Given the description of an element on the screen output the (x, y) to click on. 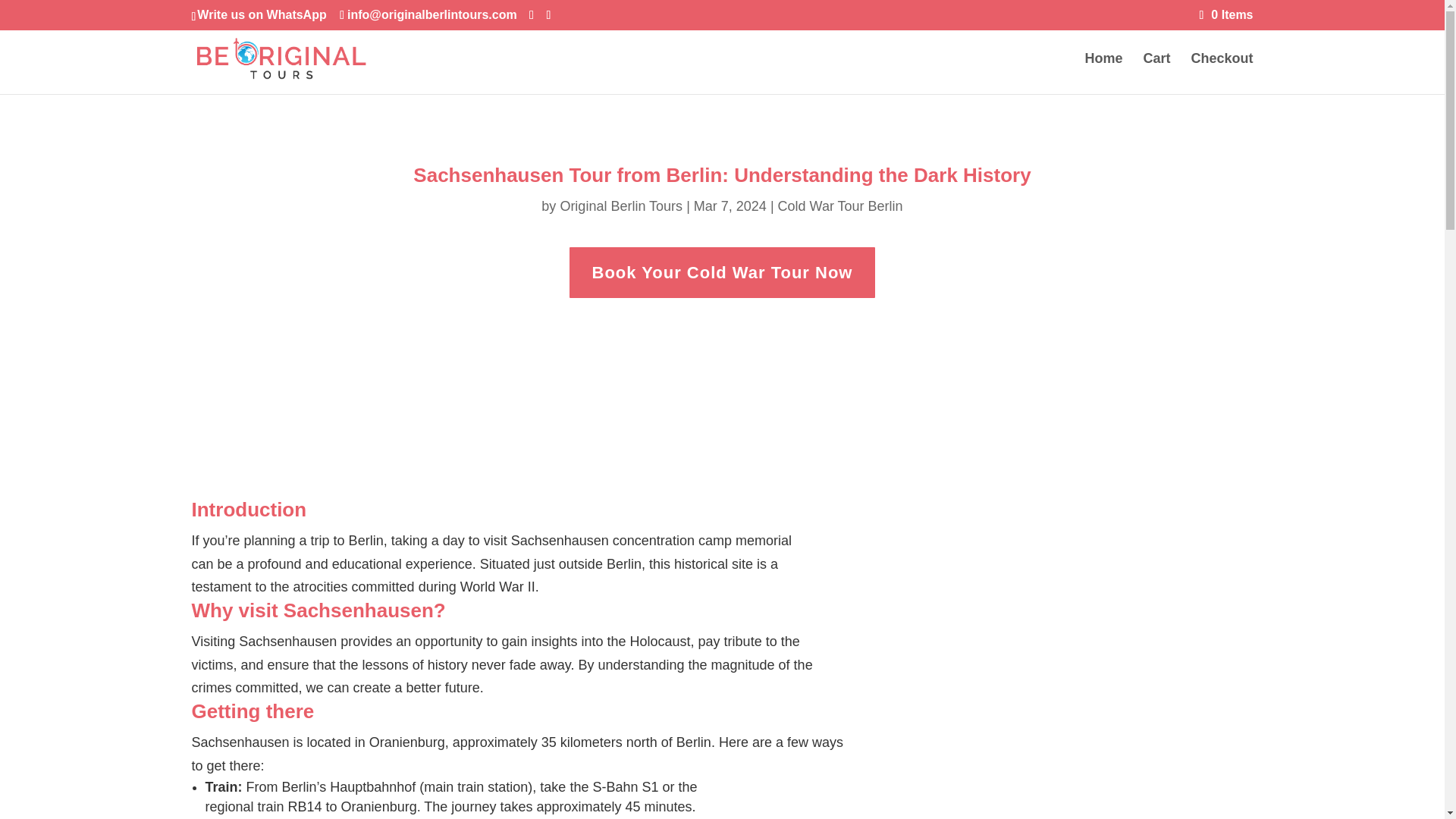
0 Items (1226, 14)
Original Berlin Tours (620, 206)
Home (1103, 73)
Checkout (1221, 73)
Book Your Cold War Tour Now (722, 272)
Posts by Original Berlin Tours (620, 206)
Cold War Tour Berlin (839, 206)
Write us on WhatsApp (261, 14)
